Given the description of an element on the screen output the (x, y) to click on. 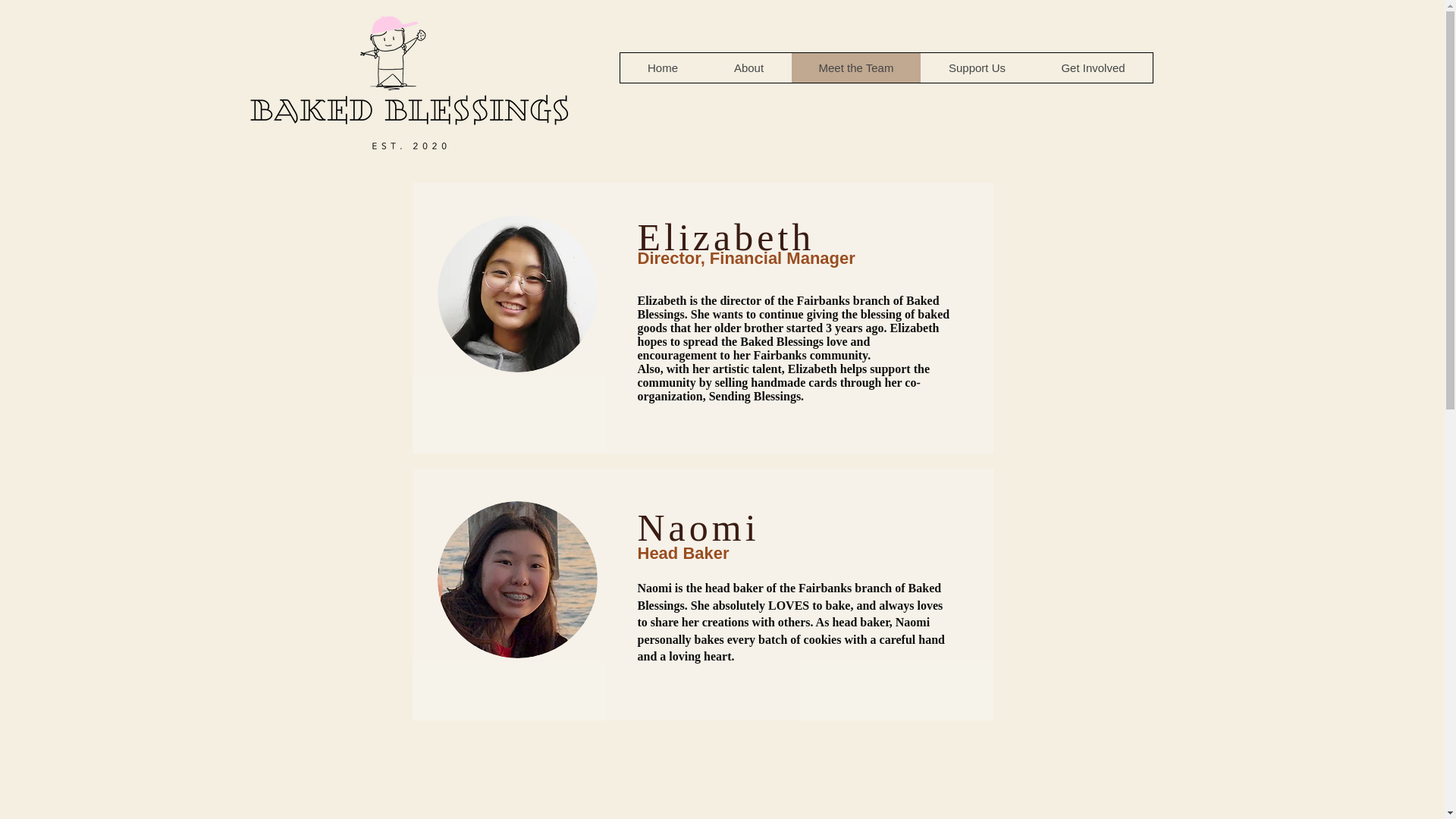
Support Us (976, 67)
Meet the Team (856, 67)
Home (663, 67)
Get Involved (1091, 67)
